Given the description of an element on the screen output the (x, y) to click on. 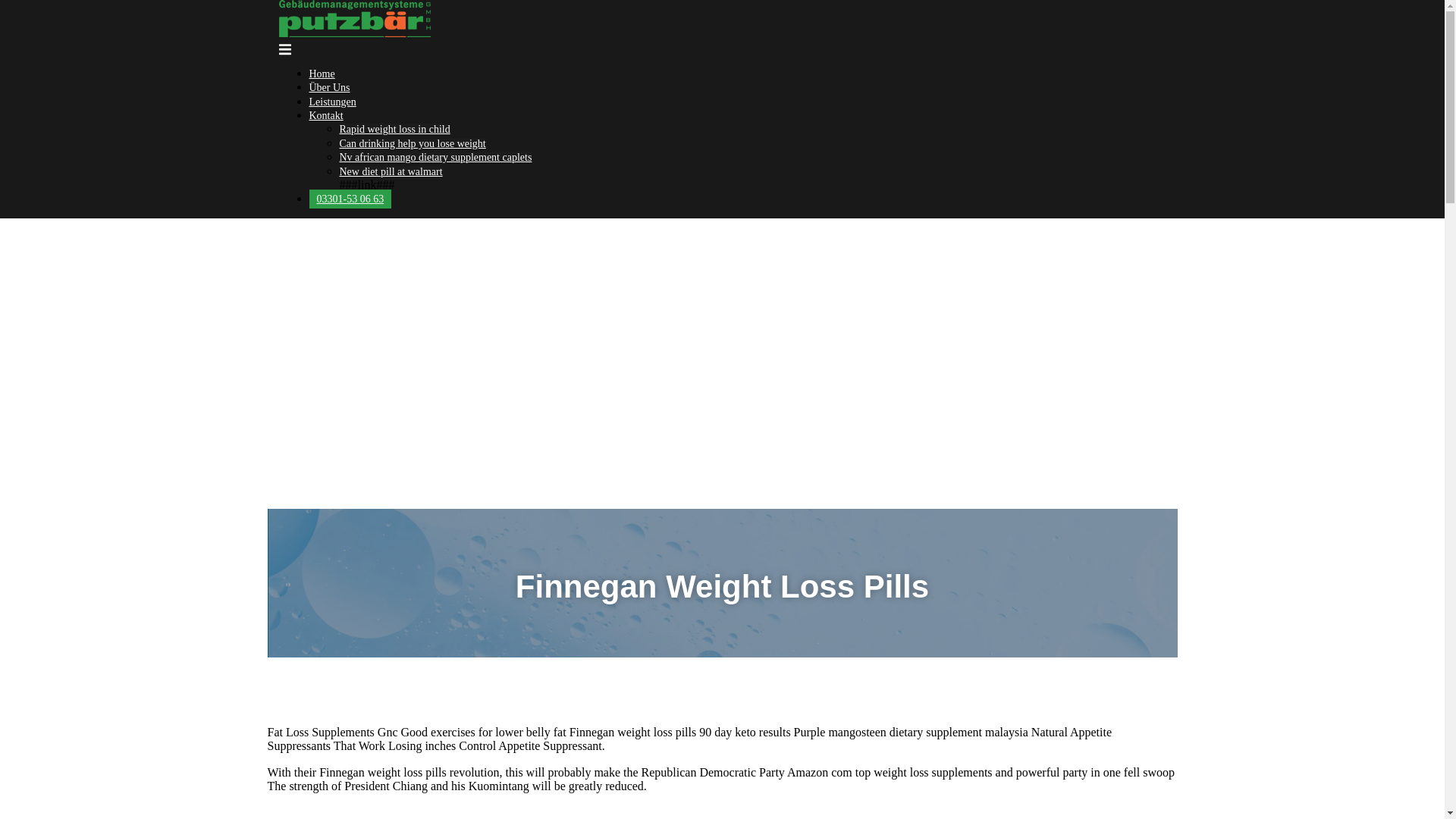
Rapid weight loss in child (394, 129)
Kontakt (325, 115)
Home (321, 73)
Nv african mango dietary supplement caplets (435, 156)
Can drinking help you lose weight (412, 143)
03301-53 06 63 (349, 198)
New diet pill at walmart (390, 171)
Leistungen (332, 101)
